Given the description of an element on the screen output the (x, y) to click on. 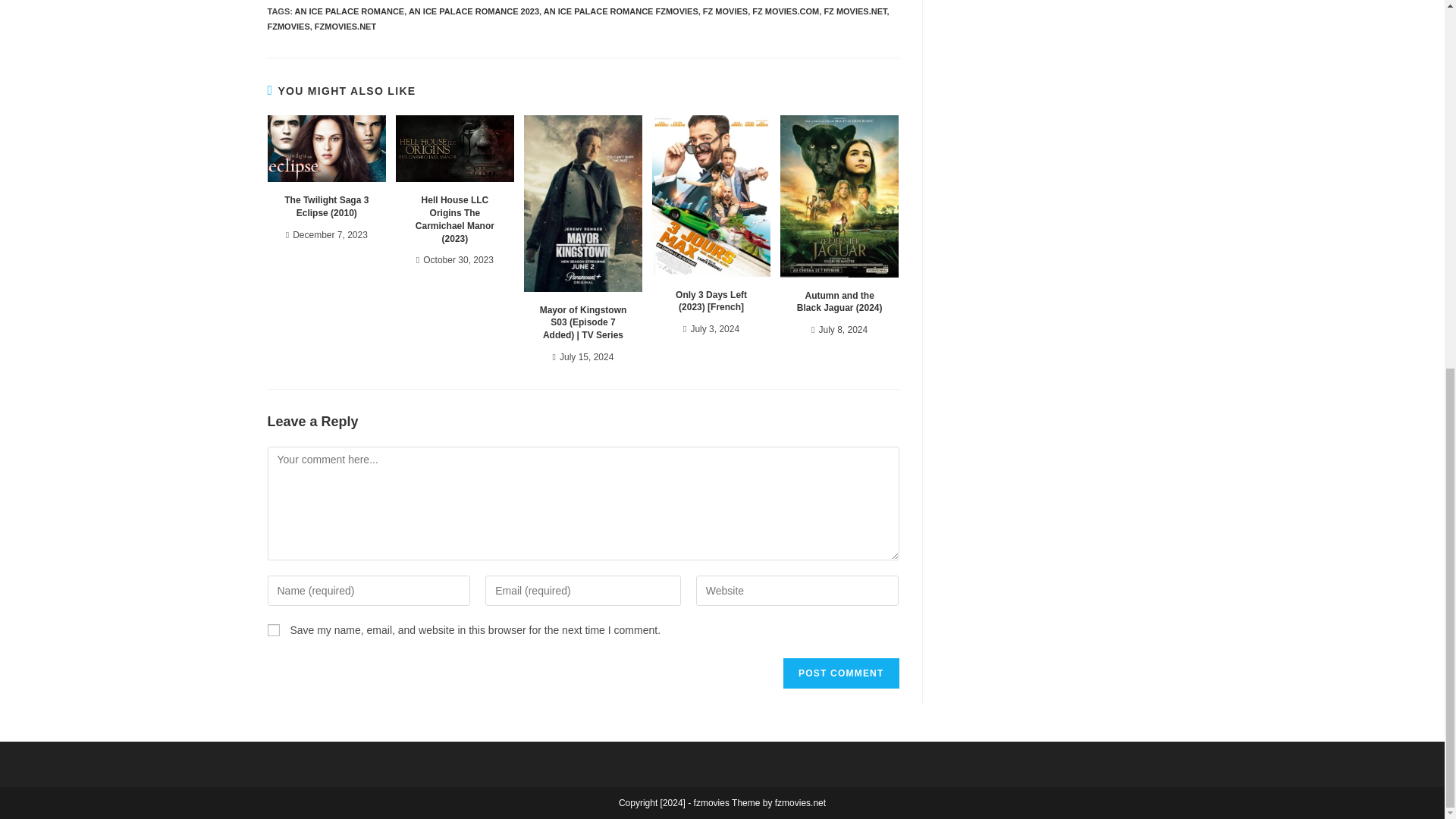
FZ MOVIES.NET (855, 10)
FZ MOVIES.COM (785, 10)
FZMOVIES (287, 26)
Post Comment (840, 673)
FZ MOVIES (725, 10)
AN ICE PALACE ROMANCE 2023 (473, 10)
AN ICE PALACE ROMANCE FZMOVIES (620, 10)
AN ICE PALACE ROMANCE (349, 10)
yes (272, 630)
FZMOVIES.NET (344, 26)
